Given the description of an element on the screen output the (x, y) to click on. 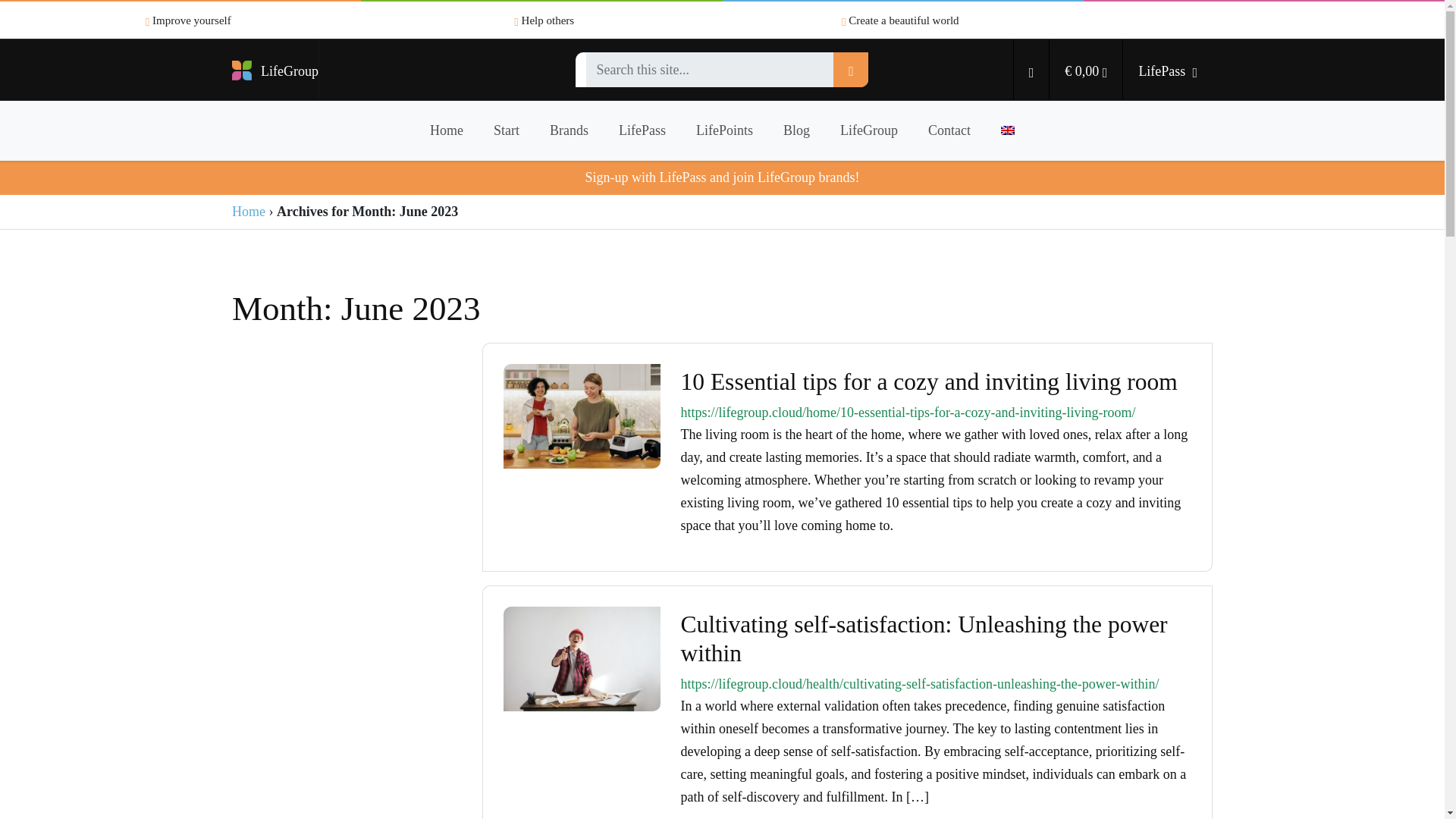
Create a beautiful world (900, 20)
Cart (1085, 69)
Cultivating self-satisfaction: Unleashing the power within (924, 638)
LifeGroup (868, 130)
Blog (796, 130)
Search (849, 69)
10 Essential tips for a cozy and inviting living room (582, 414)
Improve yourself (188, 20)
10 Essential tips for a cozy and inviting living room (929, 381)
Improve yourself (188, 20)
Home (247, 211)
LifePass   (1167, 69)
Help others (543, 20)
LifePass (642, 130)
